Given the description of an element on the screen output the (x, y) to click on. 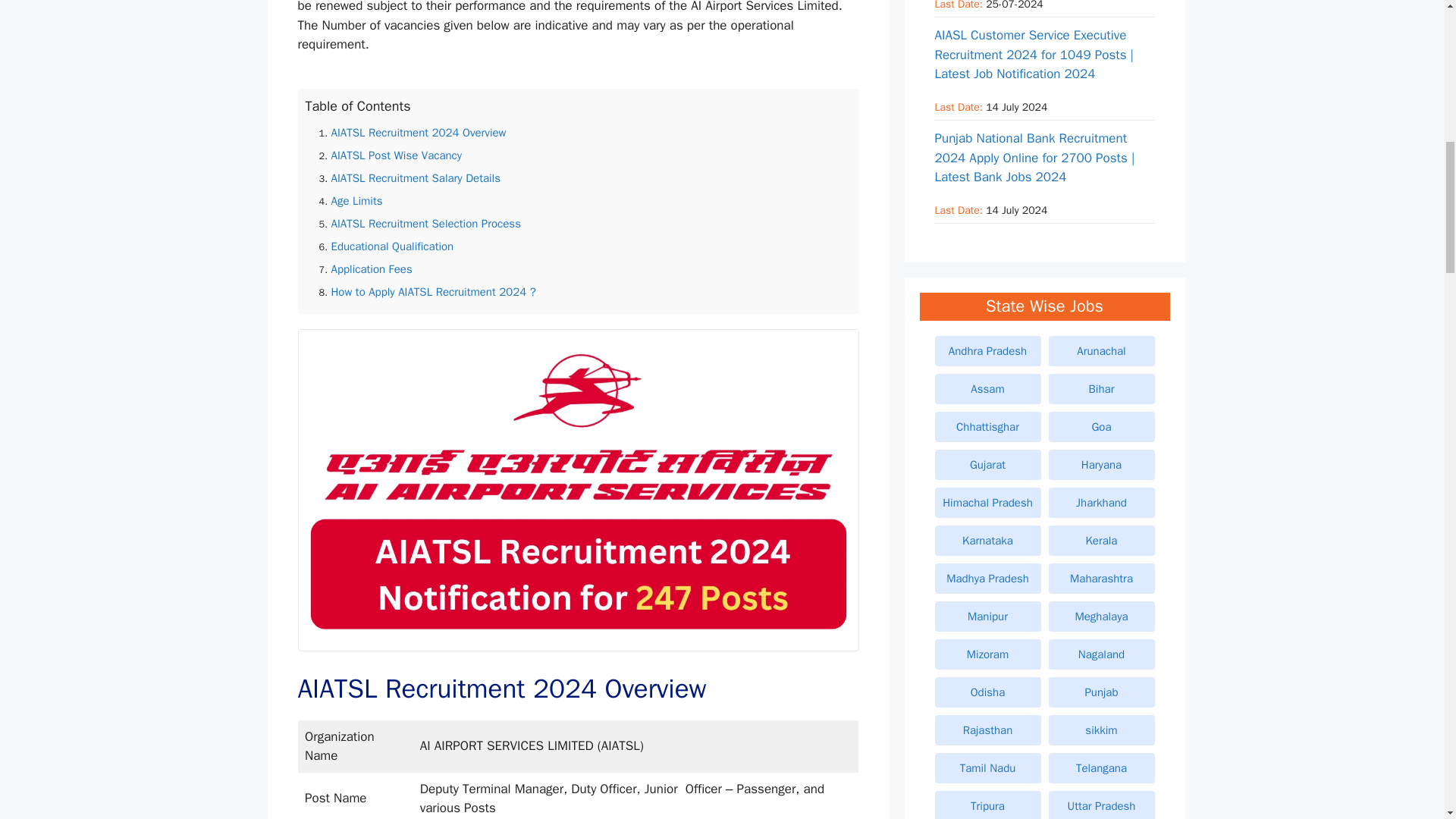
Age Limits (355, 201)
AIATSL Post Wise Vacancy (395, 155)
AIATSL Recruitment Selection Process (424, 223)
Application Fees (371, 269)
AIATSL Recruitment 2024 Overview (417, 132)
Educational Qualification (391, 246)
AIATSL Recruitment Salary Details (415, 178)
How to Apply AIATSL Recruitment 2024 ? (432, 291)
